Given the description of an element on the screen output the (x, y) to click on. 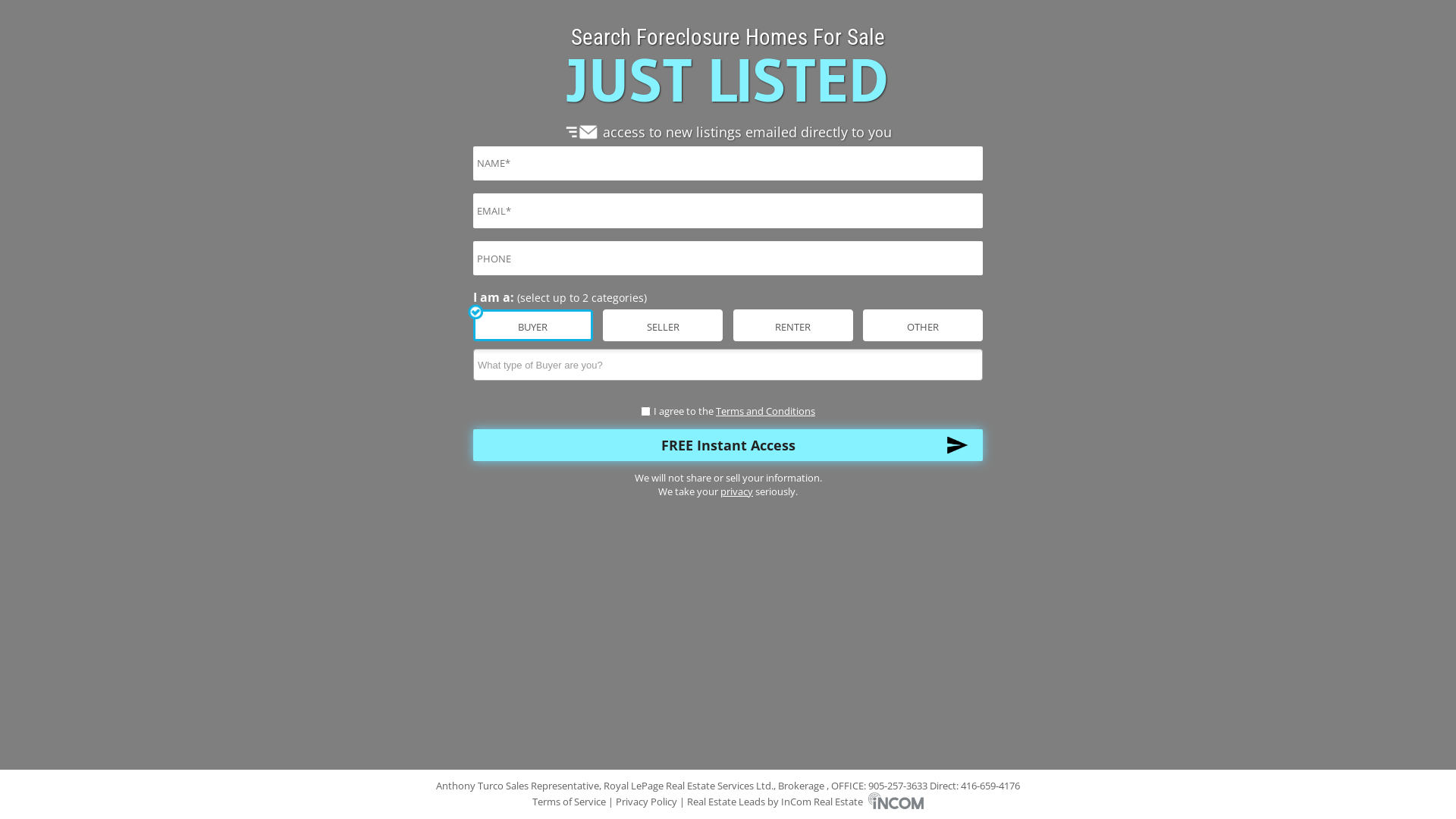
InCom Real Estate Element type: text (852, 801)
Privacy Policy Element type: text (646, 801)
BUYER Element type: text (4, 4)
Terms of Service Element type: text (570, 801)
FREE Instant Access Element type: text (727, 445)
JUST LISTED Element type: text (727, 79)
privacy Element type: text (736, 491)
Terms and Conditions Element type: text (765, 410)
Real Estate Leads Element type: text (726, 801)
